Given the description of an element on the screen output the (x, y) to click on. 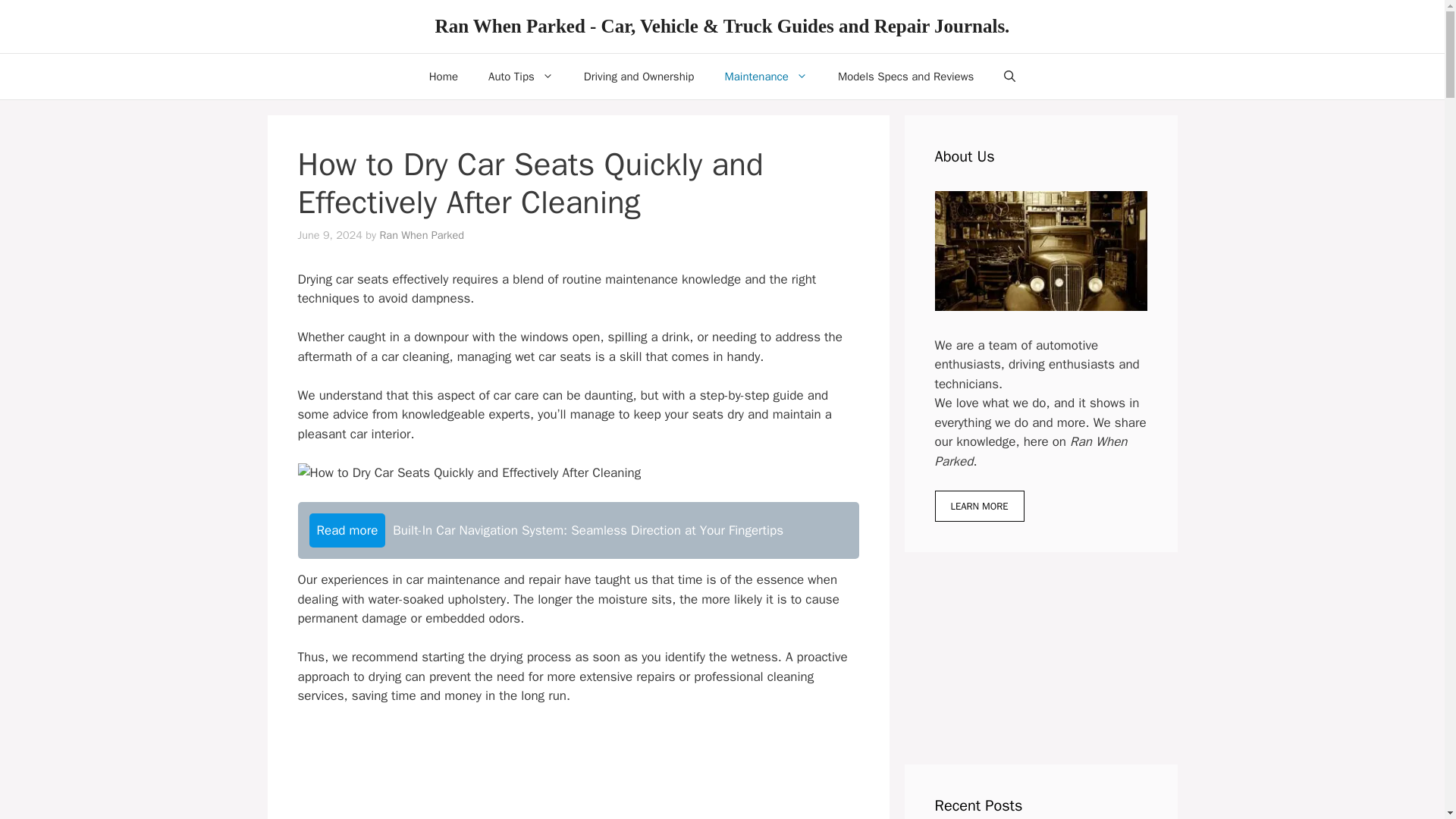
Ran When Parked (421, 234)
Auto Tips (521, 76)
Maintenance (765, 76)
Driving and Ownership (639, 76)
How to Dry Car Seats Quickly and Effectively After Cleaning (468, 473)
Home (443, 76)
Models Specs and Reviews (905, 76)
View all posts by Ran When Parked (421, 234)
